Given the description of an element on the screen output the (x, y) to click on. 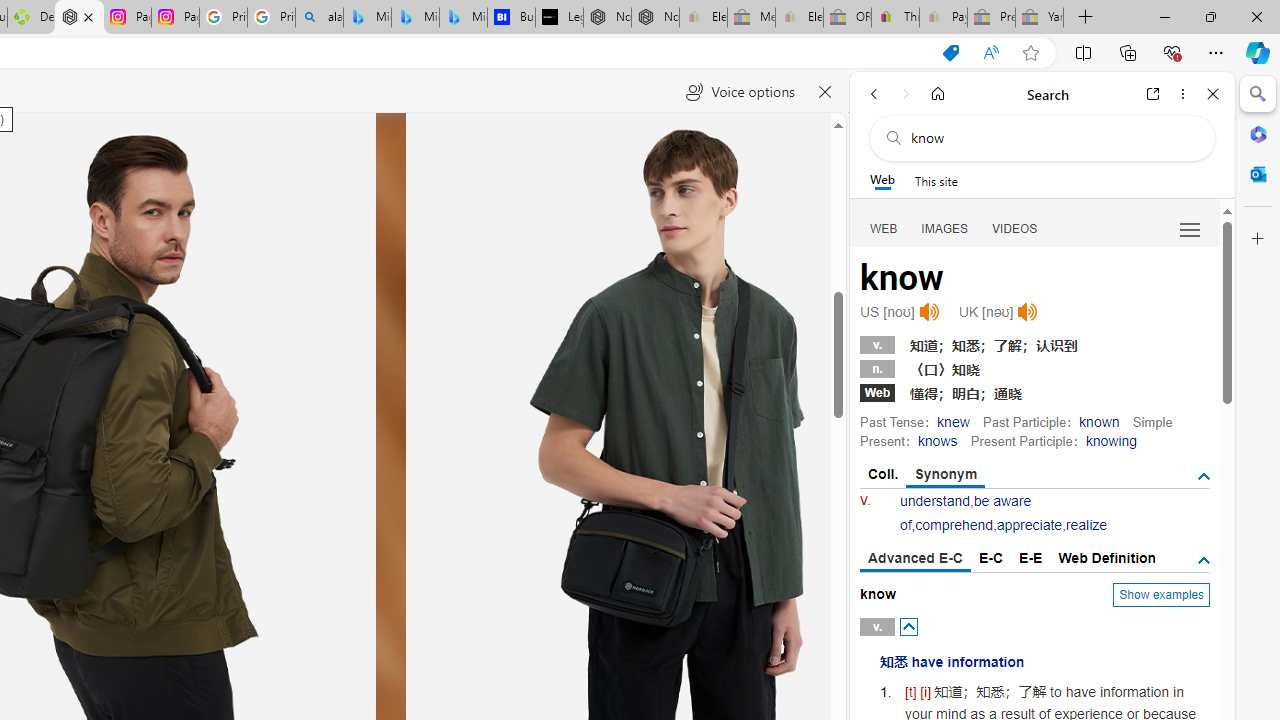
Microsoft Bing Travel - Flights from Hong Kong to Bangkok (367, 17)
AutomationID: tgsb (1203, 476)
Payments Terms of Use | eBay.com - Sleeping (943, 17)
This site has coupons! Shopping in Microsoft Edge (950, 53)
known (1099, 421)
Open link in new tab (1153, 93)
Search Filter, VIDEOS (1015, 228)
alabama high school quarterback dies - Search (319, 17)
